Given the description of an element on the screen output the (x, y) to click on. 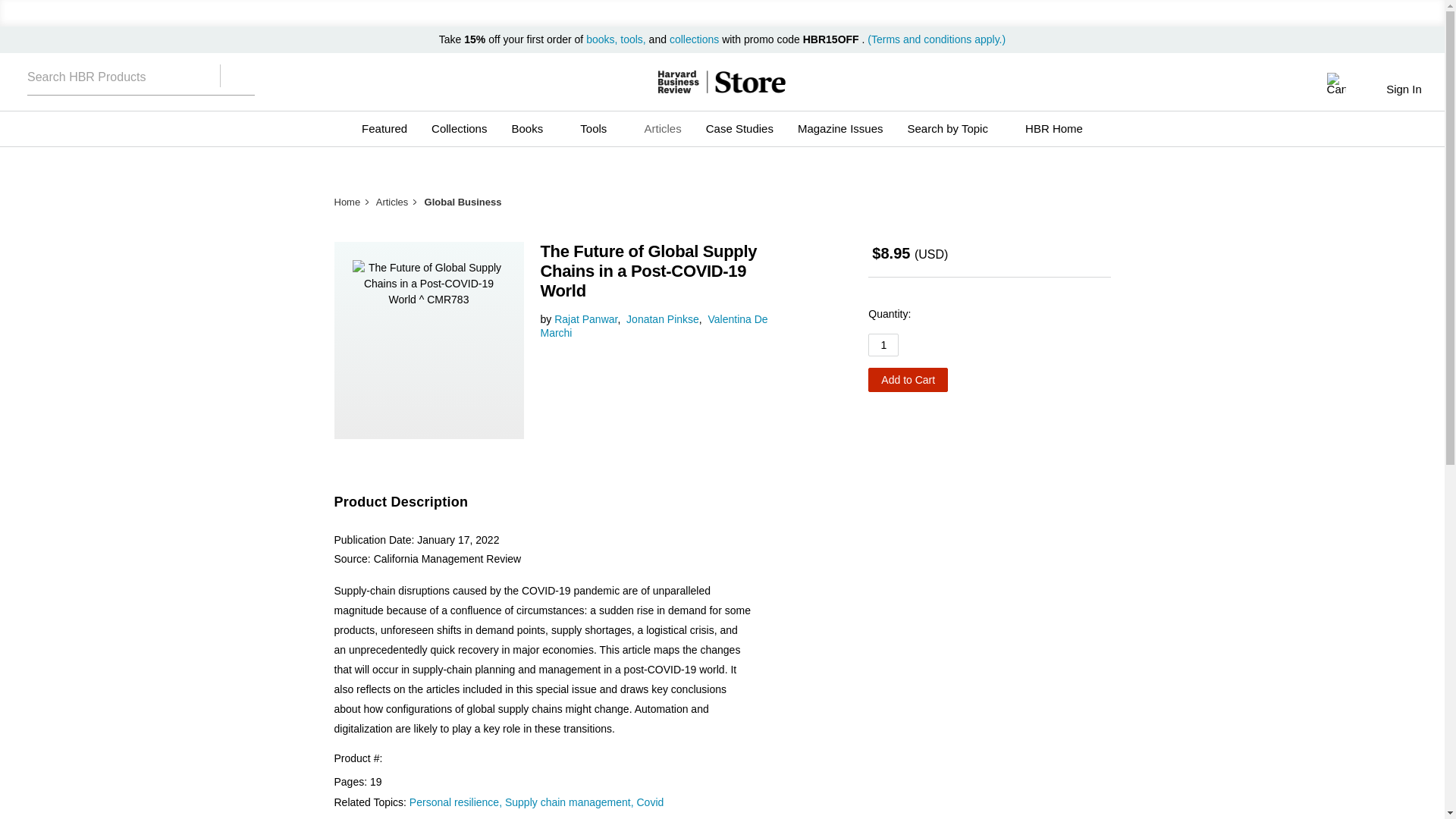
collections (694, 39)
Collections (459, 128)
1 (882, 344)
Add to Cart (907, 379)
HBR.ORG - Prod (678, 81)
Books (533, 128)
tools, (632, 39)
books, (603, 39)
Featured (384, 128)
Tools (599, 128)
